Given the description of an element on the screen output the (x, y) to click on. 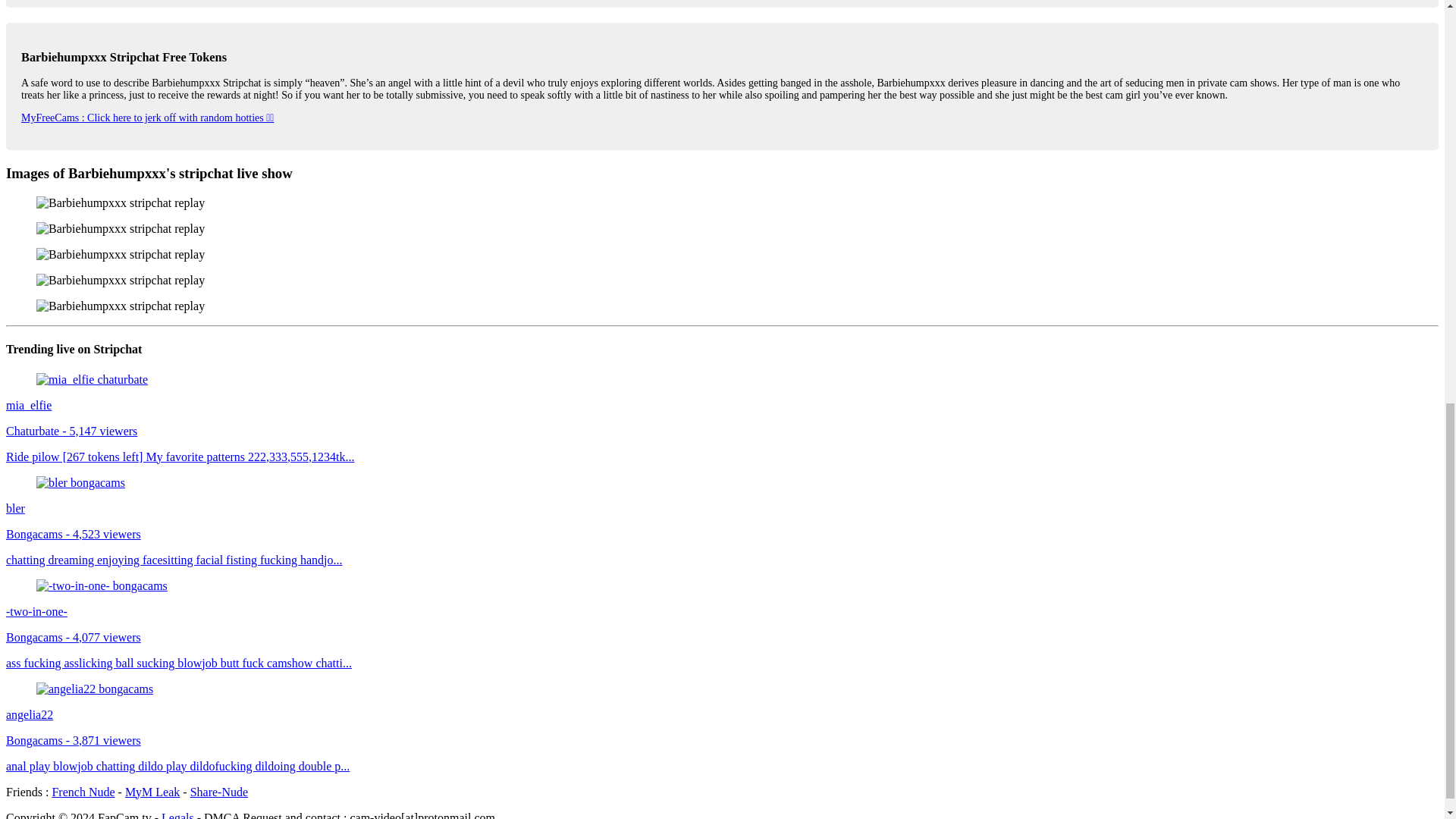
French Nude (82, 791)
MyM Leak (152, 791)
